Given the description of an element on the screen output the (x, y) to click on. 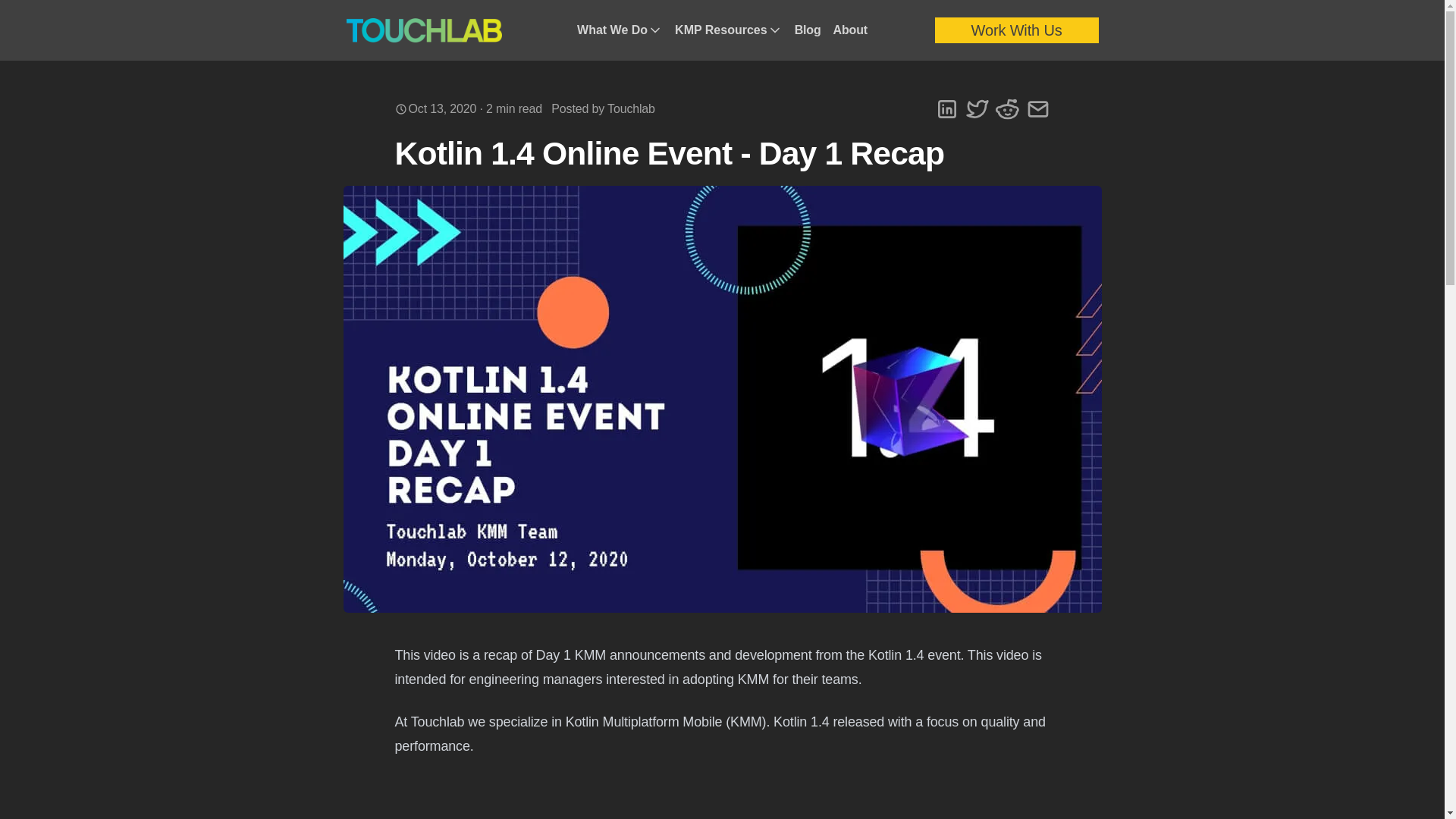
Blog (808, 30)
Youtube video id 5xS12IJAqiE (721, 797)
About (850, 30)
Email Share (1037, 109)
Twitter Share (975, 109)
What We Do (619, 30)
Linkedin Share (946, 109)
Reddit Share (1006, 109)
KMP Resources (728, 30)
Work With Us (1016, 30)
